Given the description of an element on the screen output the (x, y) to click on. 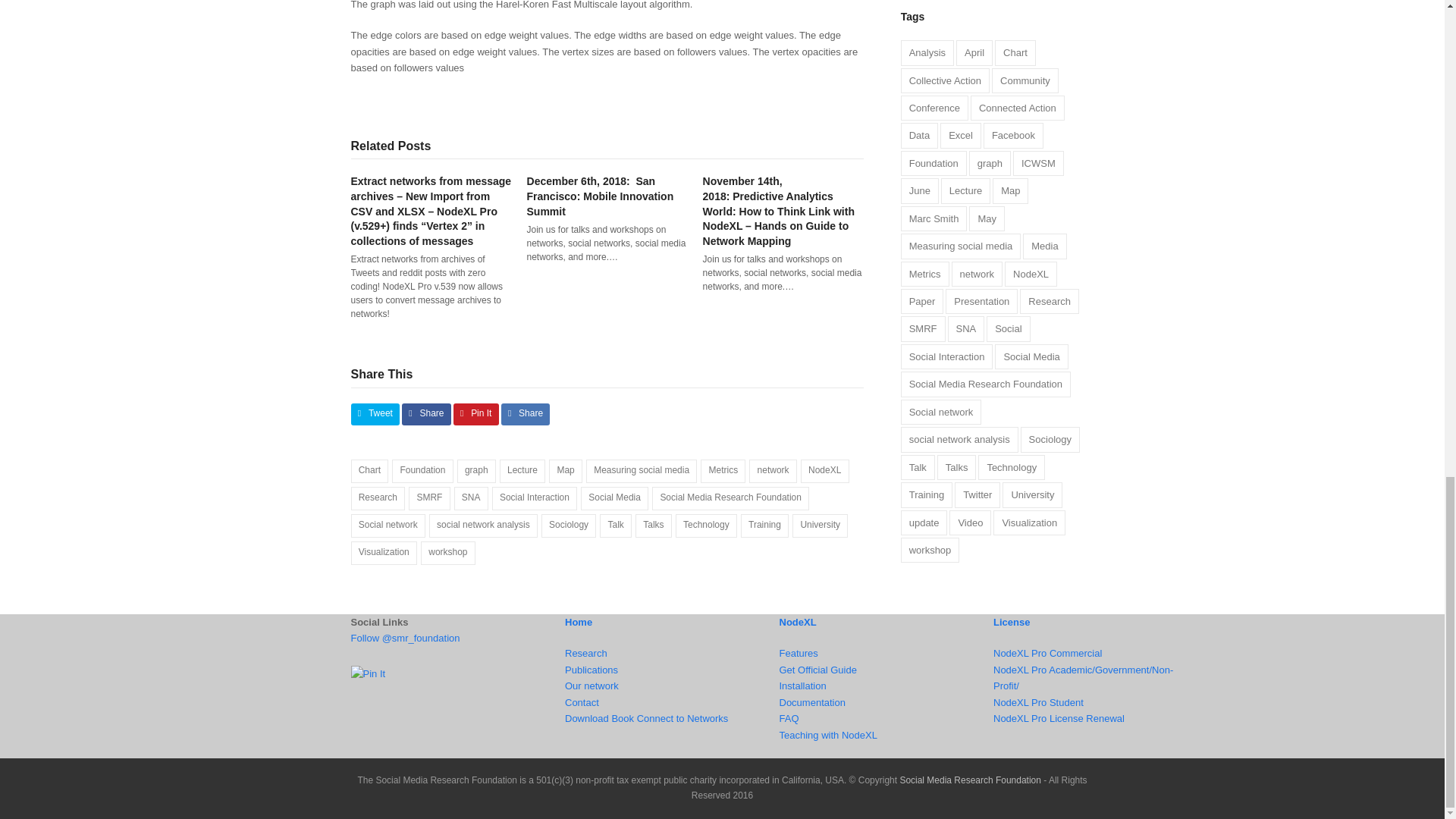
Pin It (367, 673)
